Given the description of an element on the screen output the (x, y) to click on. 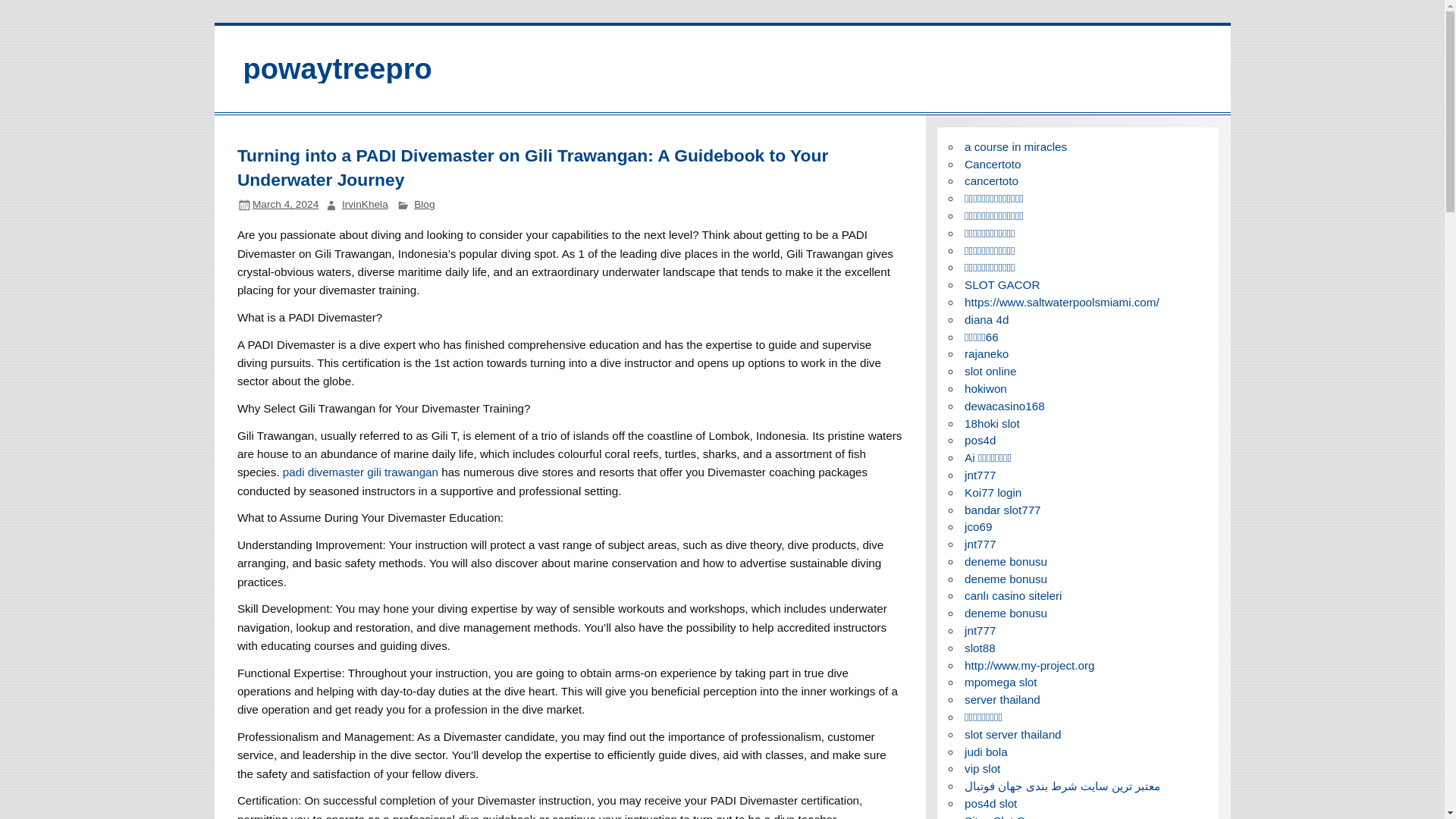
a course in miracles (1015, 146)
slot88 (979, 647)
SLOT GACOR (1001, 284)
jnt777 (979, 630)
bandar slot777 (1002, 509)
deneme bonusu (1004, 561)
18hoki slot (991, 422)
cancertoto (990, 180)
jco69 (977, 526)
slot online (989, 370)
View all posts by IrvinKhela (365, 204)
diana 4d (986, 318)
deneme bonusu (1004, 578)
padi divemaster gili trawangan (360, 472)
